Given the description of an element on the screen output the (x, y) to click on. 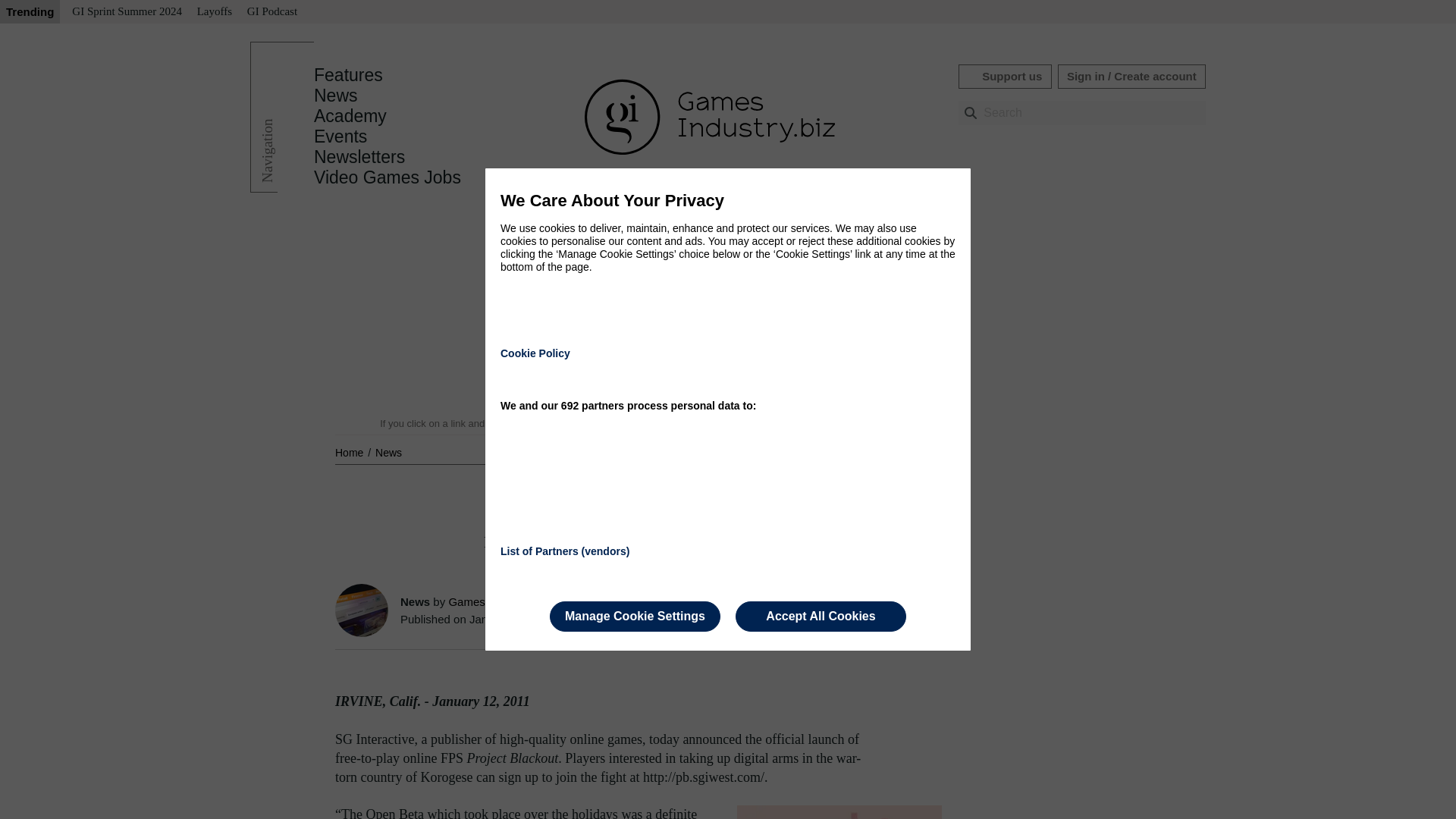
Events (340, 136)
Layoffs (214, 11)
Support us (1004, 75)
Events (340, 136)
Features (348, 75)
Academy (350, 116)
GI Podcast (271, 11)
Features (348, 75)
GI Podcast (271, 11)
Home (350, 452)
GamesIndustry.biz (494, 601)
Video Games Jobs (387, 177)
Layoffs (214, 11)
GI Sprint Summer 2024 (126, 11)
Newsletters (359, 157)
